Given the description of an element on the screen output the (x, y) to click on. 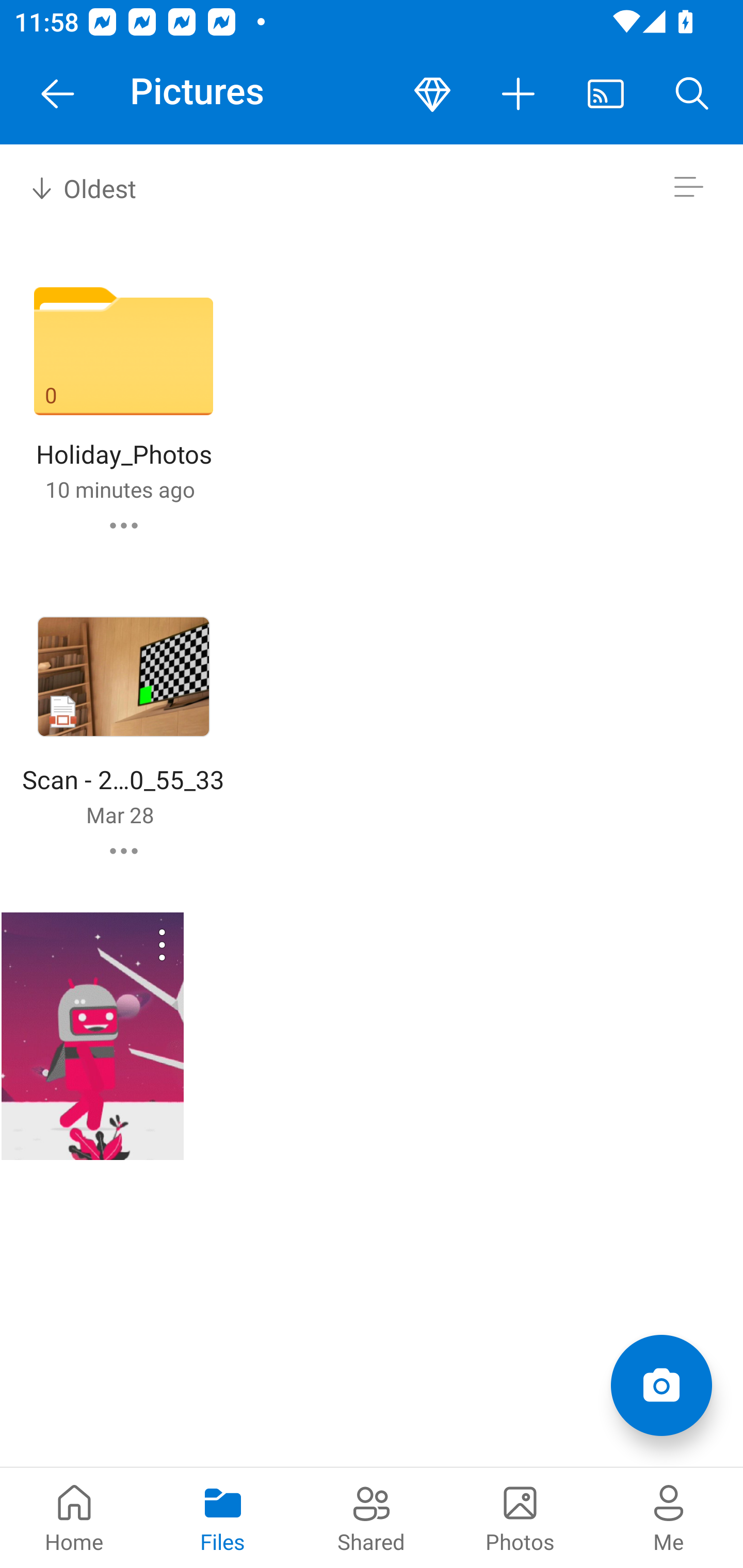
Navigate Up (57, 93)
Cast. Disconnected (605, 93)
Premium button (432, 93)
More actions button (518, 93)
Search button (692, 93)
Oldest Sort by combo box, sort by oldest (80, 187)
Switch to list view (688, 187)
10 minutes ago (119, 489)
Holiday_Photos commands (123, 525)
Mar 28 (120, 814)
Scan - 2024-03-28 10_55_33 commands (123, 851)
Document Test_IMG Test_IMG commands (92, 1036)
Test_IMG commands (136, 944)
Add items Scan (660, 1385)
Home pivot Home (74, 1517)
Shared pivot Shared (371, 1517)
Photos pivot Photos (519, 1517)
Me pivot Me (668, 1517)
